Given the description of an element on the screen output the (x, y) to click on. 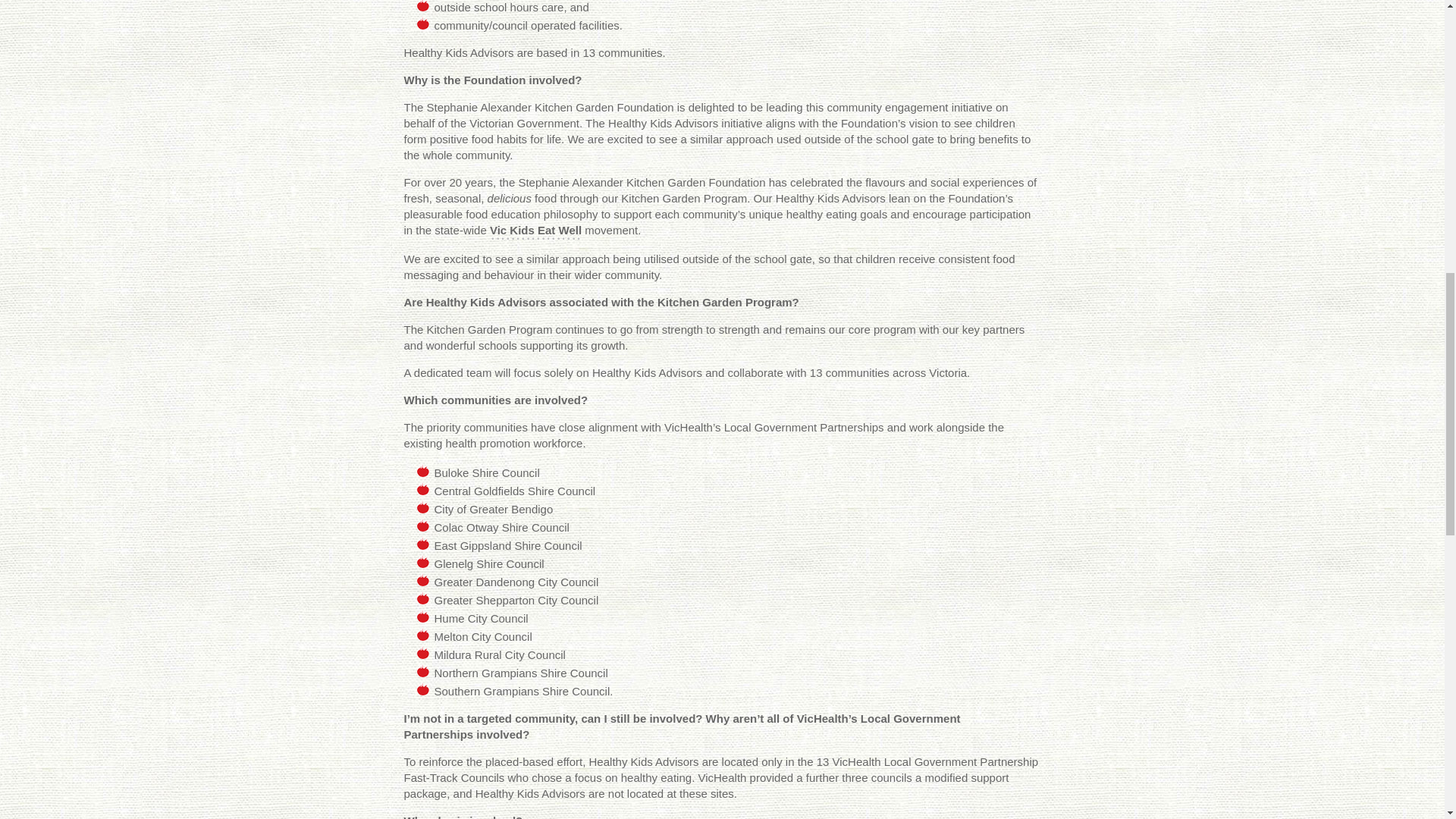
Vic Kids Eat Well (534, 230)
